Given the description of an element on the screen output the (x, y) to click on. 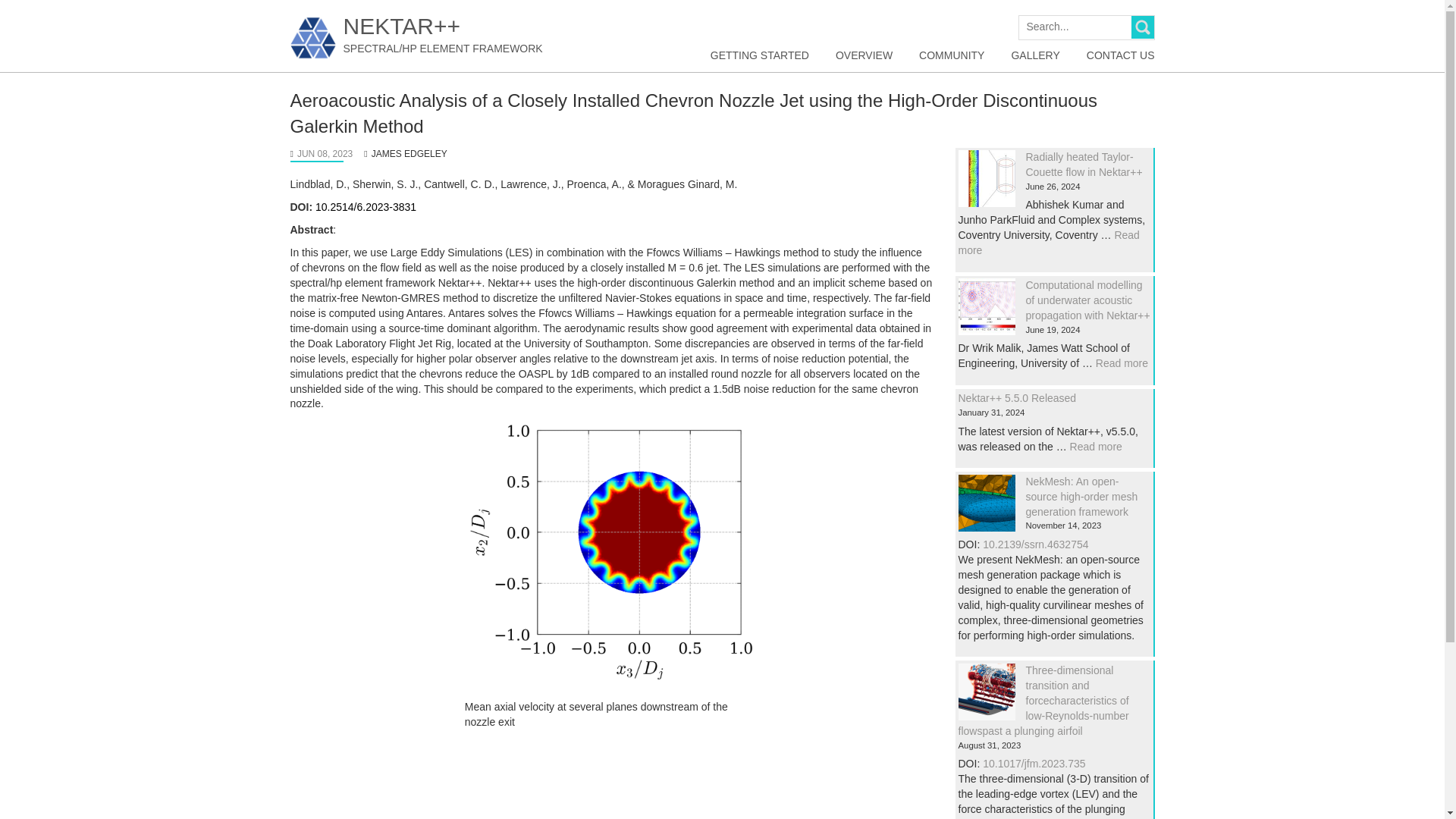
CONTACT US (1120, 56)
JUN 08, 2023 (324, 153)
GALLERY (1034, 56)
COMMUNITY (951, 56)
NekMesh: An open-source high-order mesh generation framework (1081, 496)
OVERVIEW (863, 56)
GETTING STARTED (759, 56)
Read more (1049, 242)
Read more (1096, 446)
Read more (1122, 363)
